Given the description of an element on the screen output the (x, y) to click on. 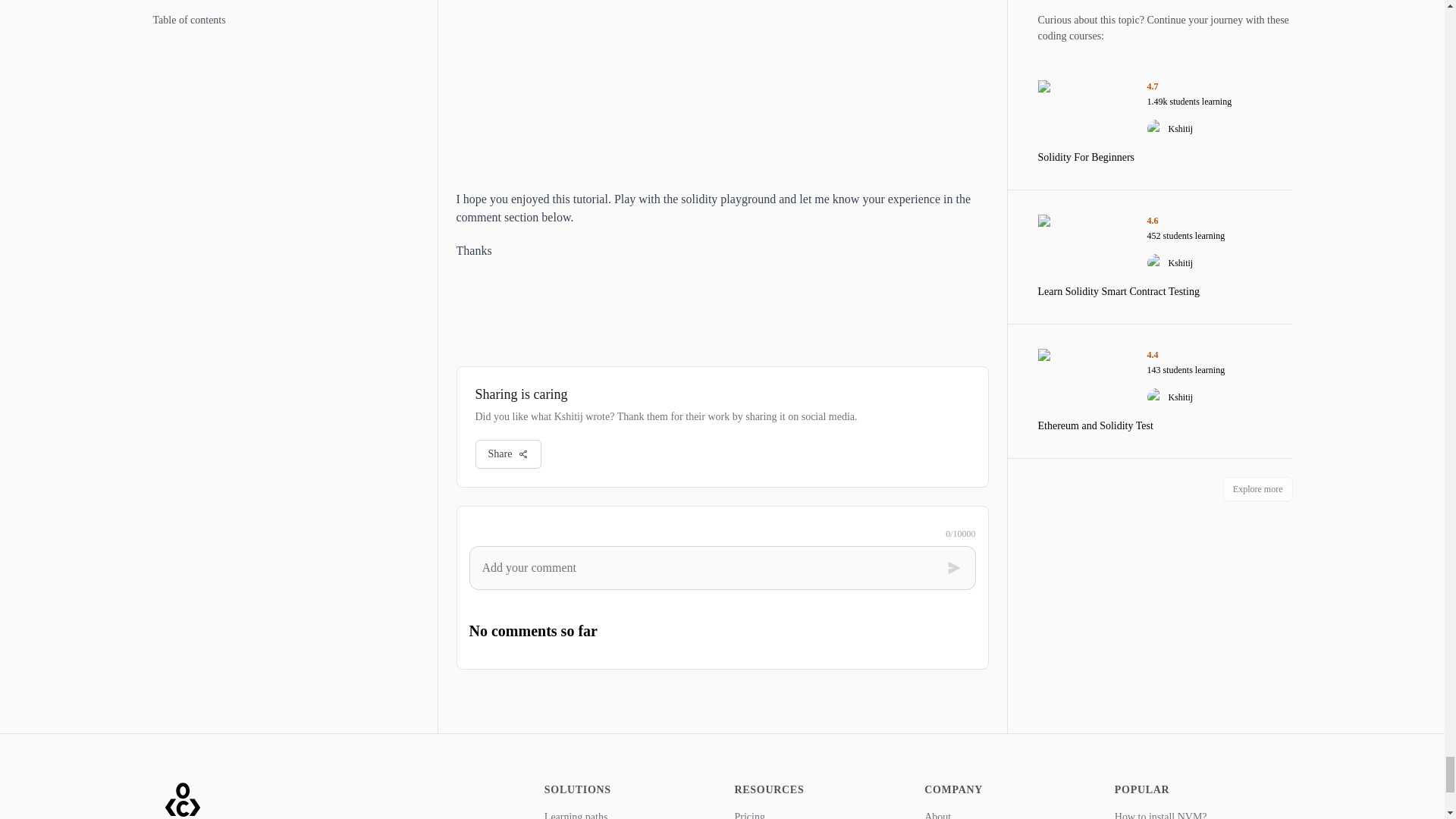
About (937, 815)
Share (507, 453)
How to install NVM? (1161, 815)
Pricing (748, 815)
Learning paths (576, 815)
